Given the description of an element on the screen output the (x, y) to click on. 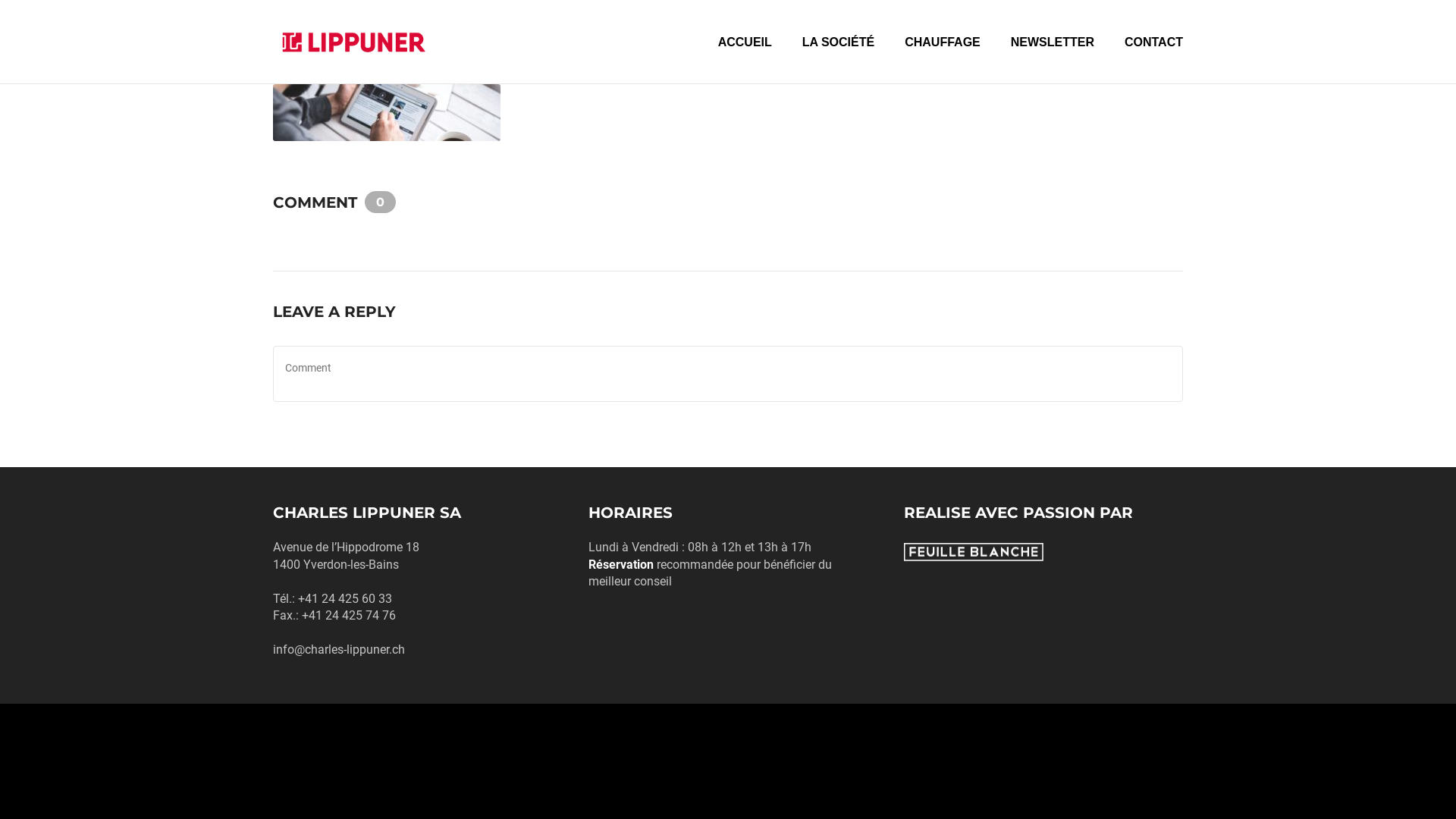
CHAUFFAGE Element type: text (942, 59)
NEWSLETTER Element type: text (1052, 59)
ACCUEIL Element type: text (744, 59)
CONTACT Element type: text (1153, 59)
